Given the description of an element on the screen output the (x, y) to click on. 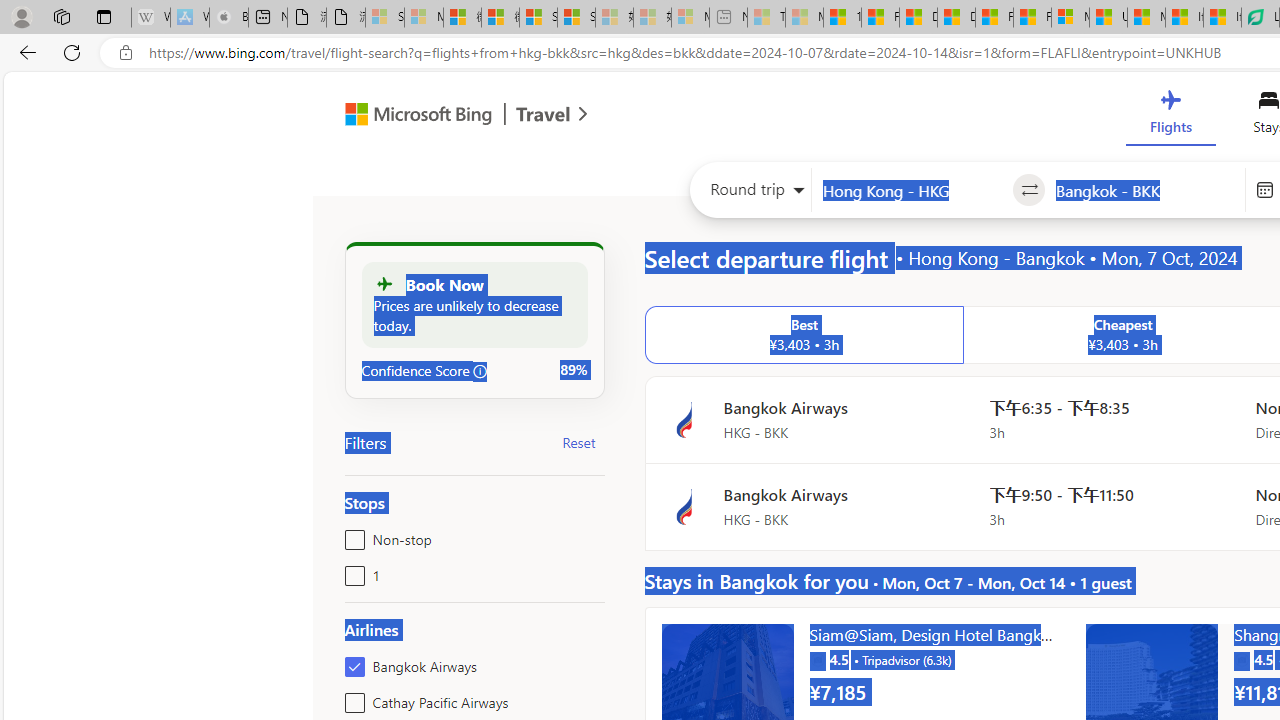
Microsoft Bing Travel (445, 116)
Microsoft Services Agreement - Sleeping (423, 17)
Bangkok Airways (351, 662)
Reset (578, 442)
1 (351, 571)
Microsoft account | Account Checkup - Sleeping (690, 17)
